Given the description of an element on the screen output the (x, y) to click on. 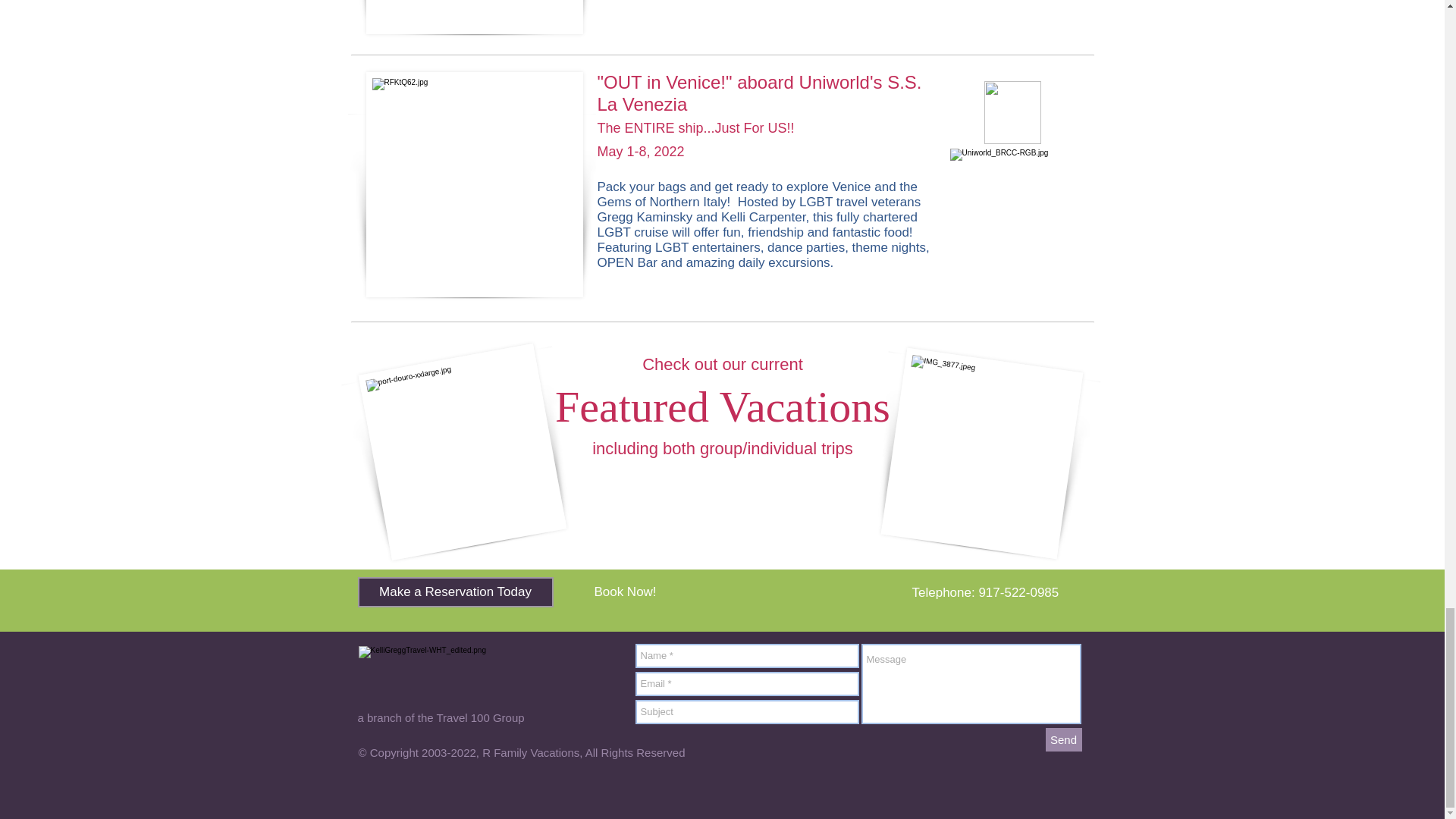
Make a Reservation Today (455, 592)
Book Now! (624, 592)
